Given the description of an element on the screen output the (x, y) to click on. 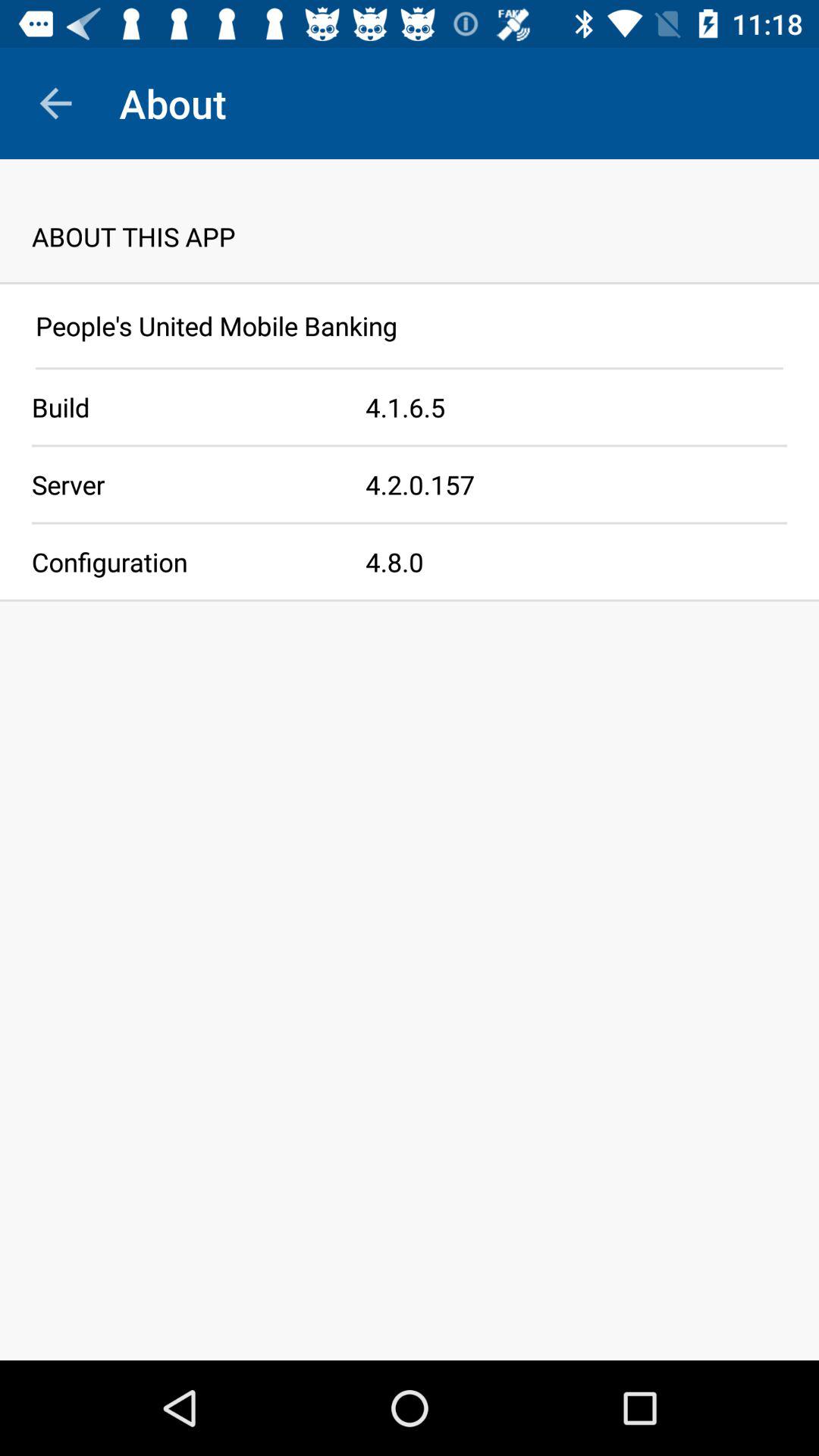
open icon next to 4.8.0 (182, 561)
